Given the description of an element on the screen output the (x, y) to click on. 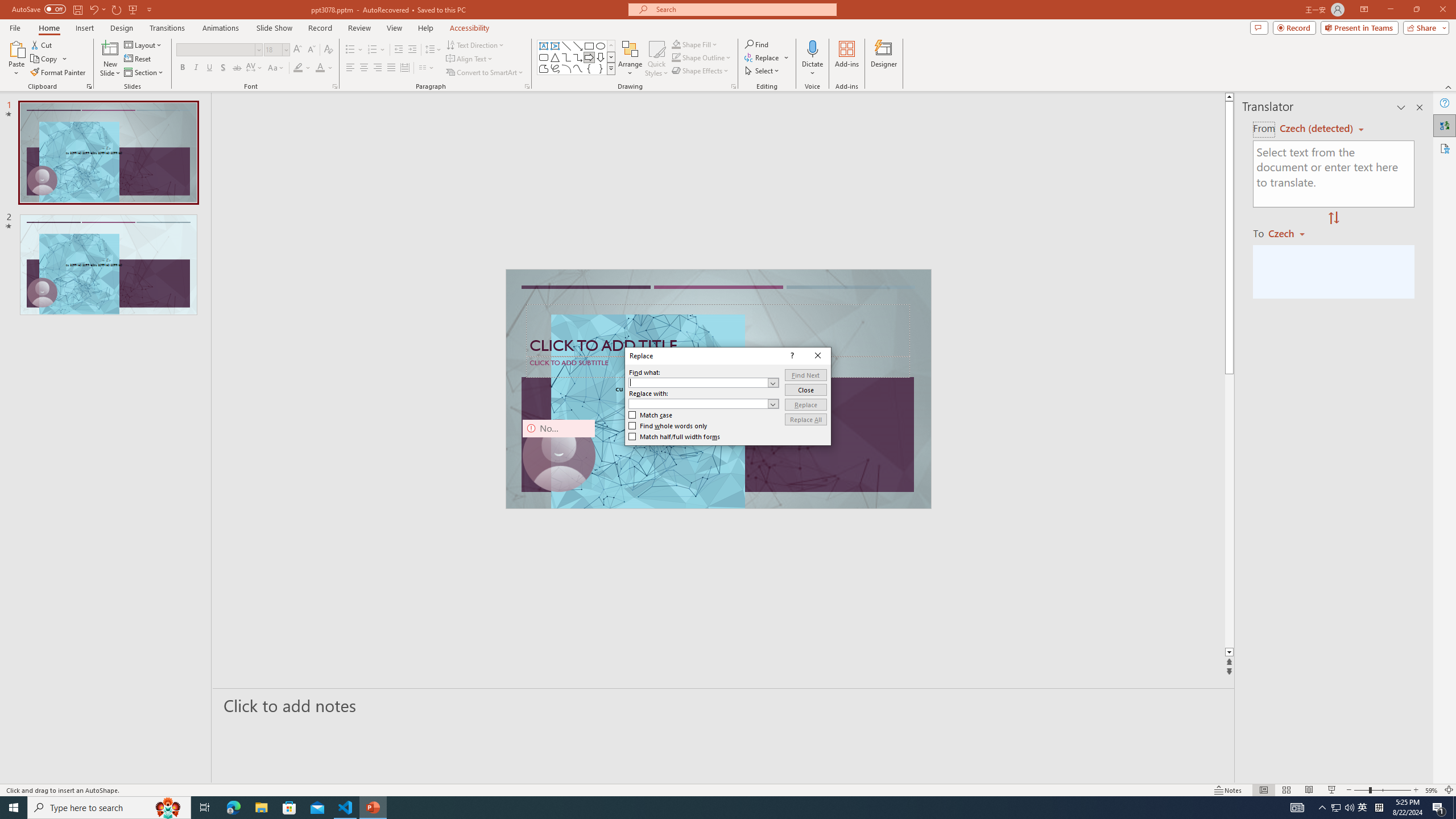
Match half/full width forms (674, 436)
Replace All (805, 418)
Connector: Elbow (566, 57)
Find... (756, 44)
File Explorer (261, 807)
Type here to search (108, 807)
User Promoted Notification Area (1342, 807)
Align Right (377, 67)
